Given the description of an element on the screen output the (x, y) to click on. 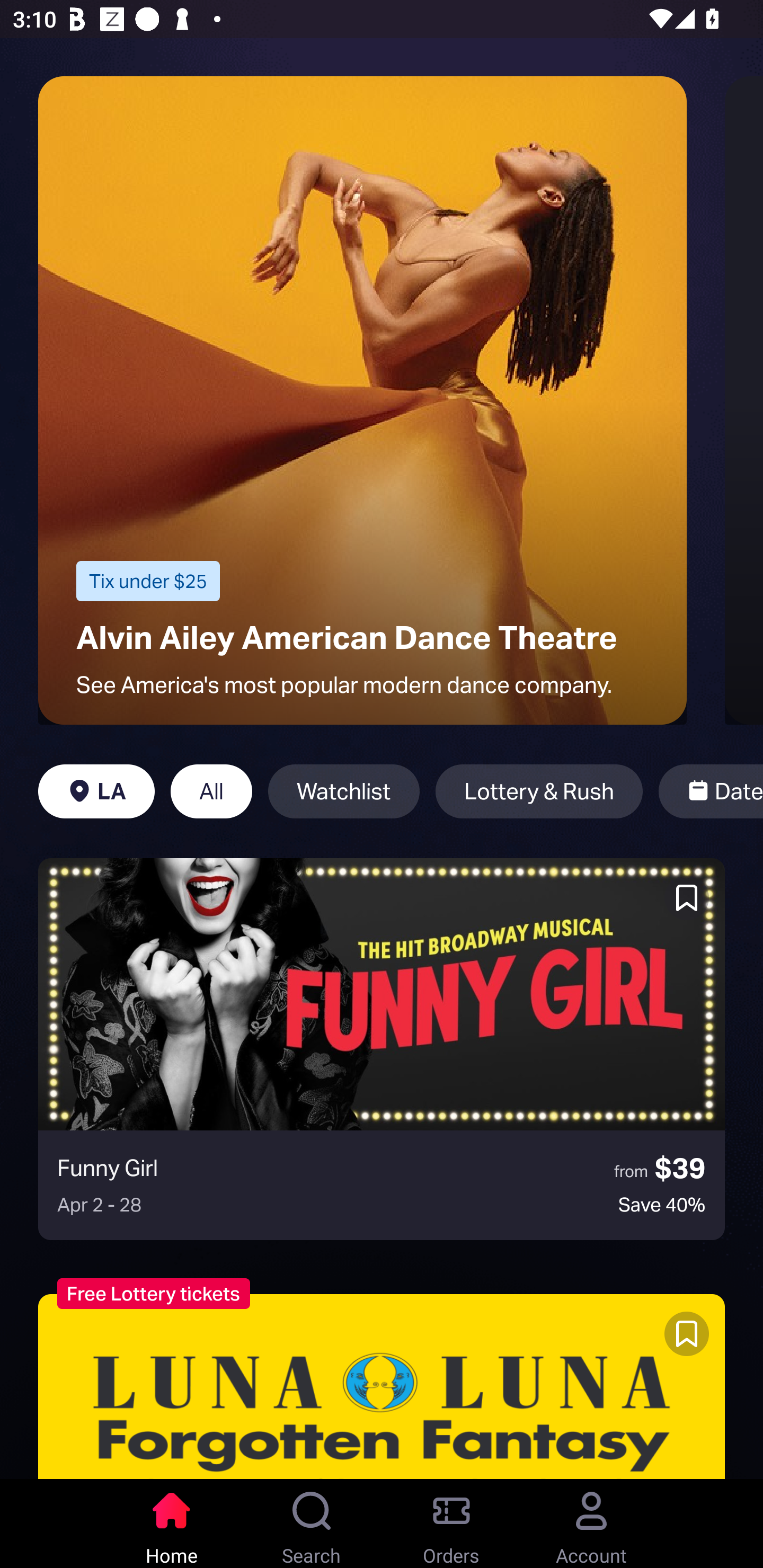
LA (96, 791)
All (211, 791)
Watchlist (343, 791)
Lottery & Rush (538, 791)
Funny Girl from $39 Apr 2 - 28 Save 40% (381, 1048)
Search (311, 1523)
Orders (451, 1523)
Account (591, 1523)
